Given the description of an element on the screen output the (x, y) to click on. 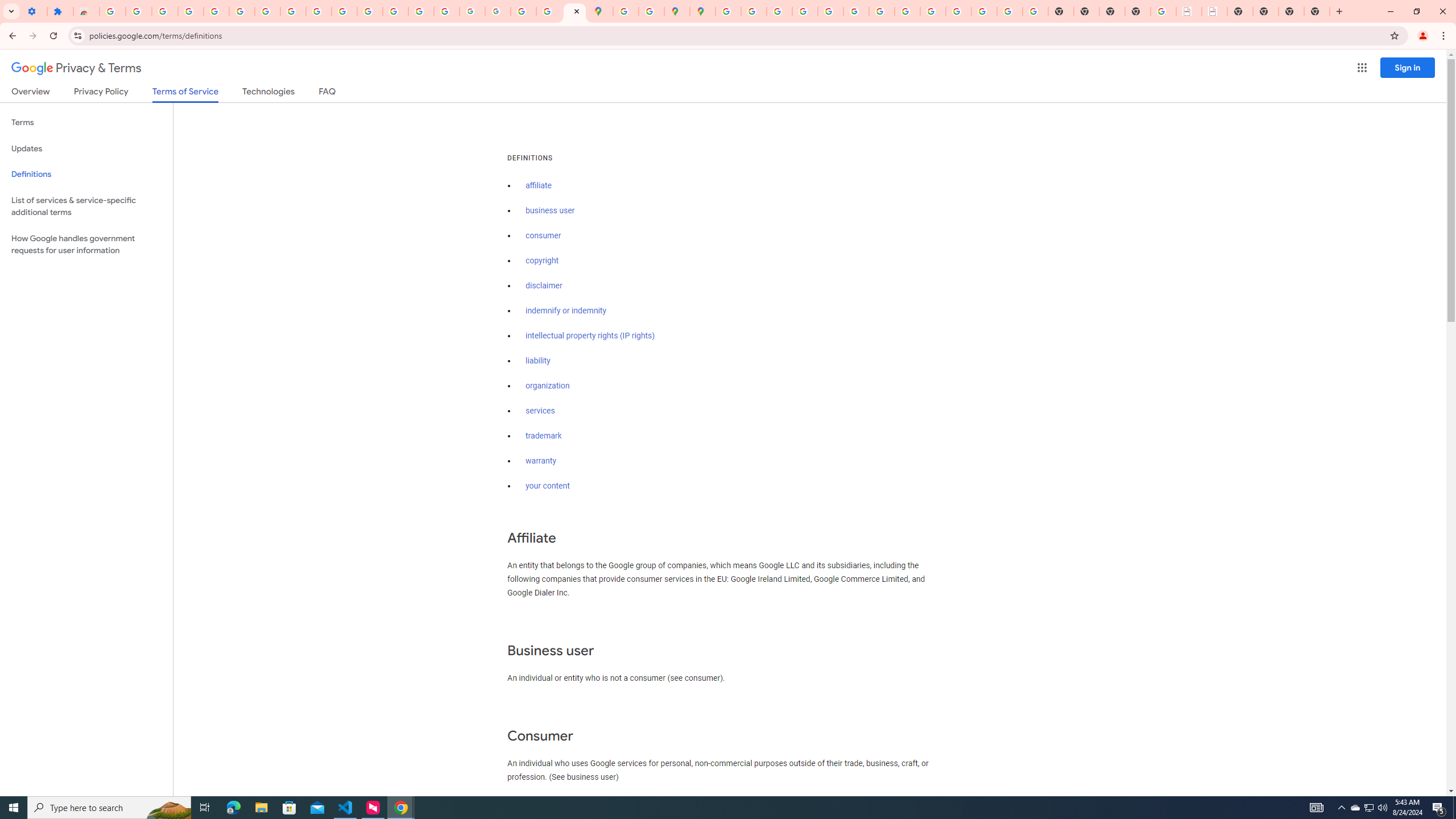
Google Images (1034, 11)
YouTube (881, 11)
your content (547, 486)
